Given the description of an element on the screen output the (x, y) to click on. 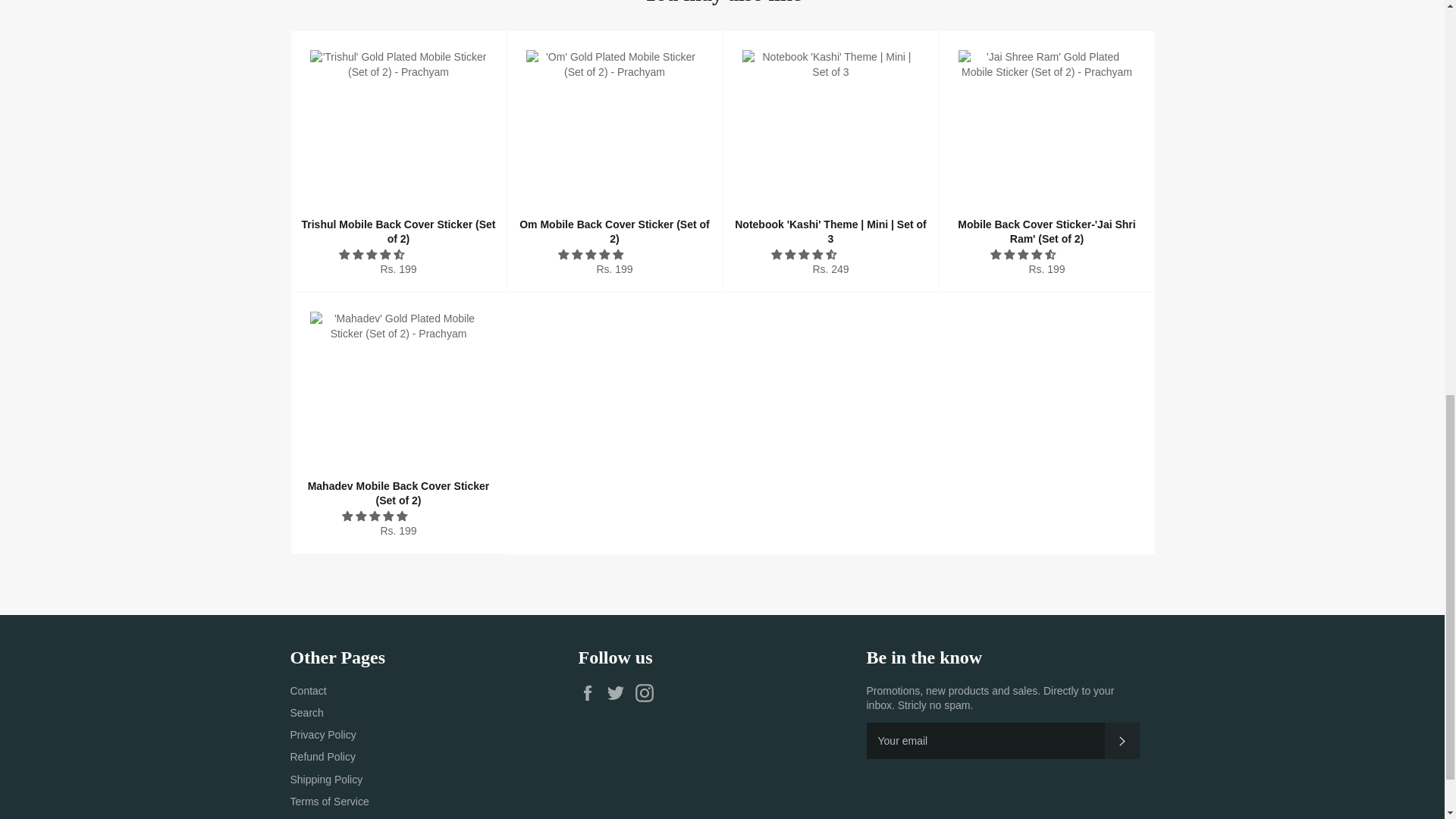
Rastantra on Instagram (647, 692)
Rastantra on Twitter (619, 692)
Rastantra on Facebook (591, 692)
